Given the description of an element on the screen output the (x, y) to click on. 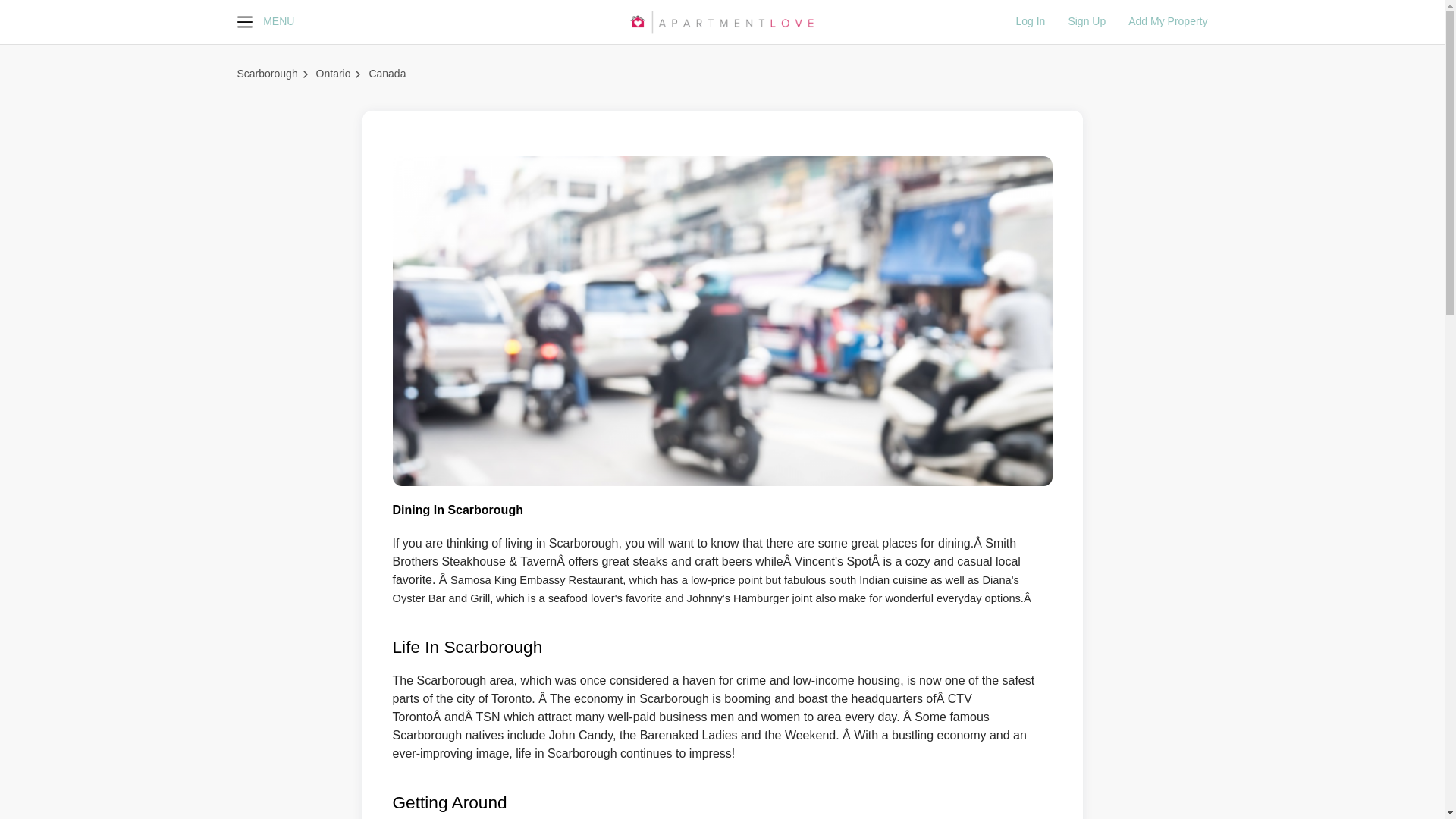
Sign Up (1075, 21)
Ontario (332, 73)
Scarborough (266, 73)
Canada (387, 73)
Log In (1029, 21)
Add My Property (1156, 21)
